Given the description of an element on the screen output the (x, y) to click on. 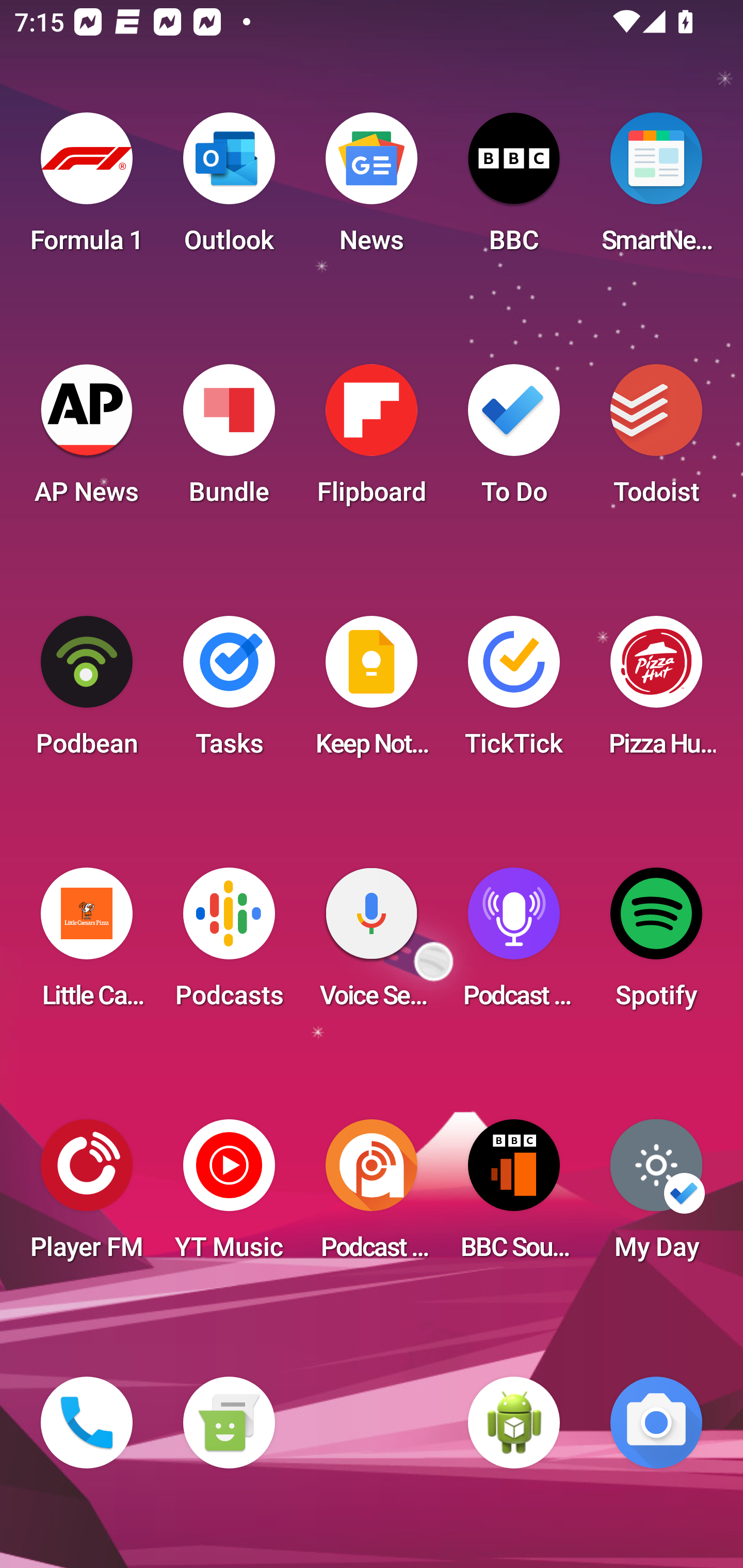
Formula 1 (86, 188)
Outlook (228, 188)
News (371, 188)
BBC (513, 188)
SmartNews (656, 188)
AP News (86, 440)
Bundle (228, 440)
Flipboard (371, 440)
To Do (513, 440)
Todoist (656, 440)
Podbean (86, 692)
Tasks (228, 692)
Keep Notes (371, 692)
TickTick (513, 692)
Pizza Hut HK & Macau (656, 692)
Little Caesars Pizza (86, 943)
Podcasts (228, 943)
Voice Search (371, 943)
Podcast Player (513, 943)
Spotify (656, 943)
Player FM (86, 1195)
YT Music (228, 1195)
Podcast Addict (371, 1195)
BBC Sounds (513, 1195)
My Day (656, 1195)
Phone (86, 1422)
Messaging (228, 1422)
WebView Browser Tester (513, 1422)
Camera (656, 1422)
